Given the description of an element on the screen output the (x, y) to click on. 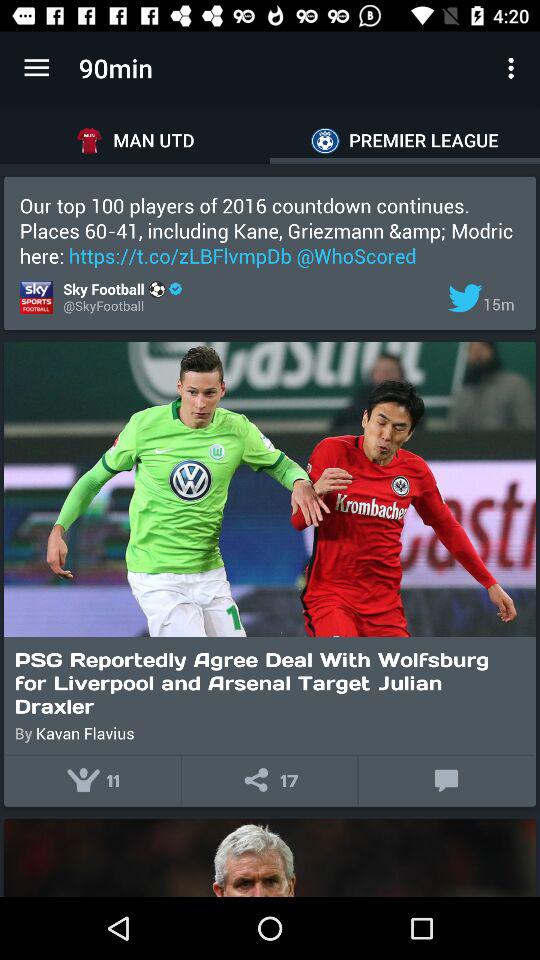
jump to the our top 100 (269, 230)
